Given the description of an element on the screen output the (x, y) to click on. 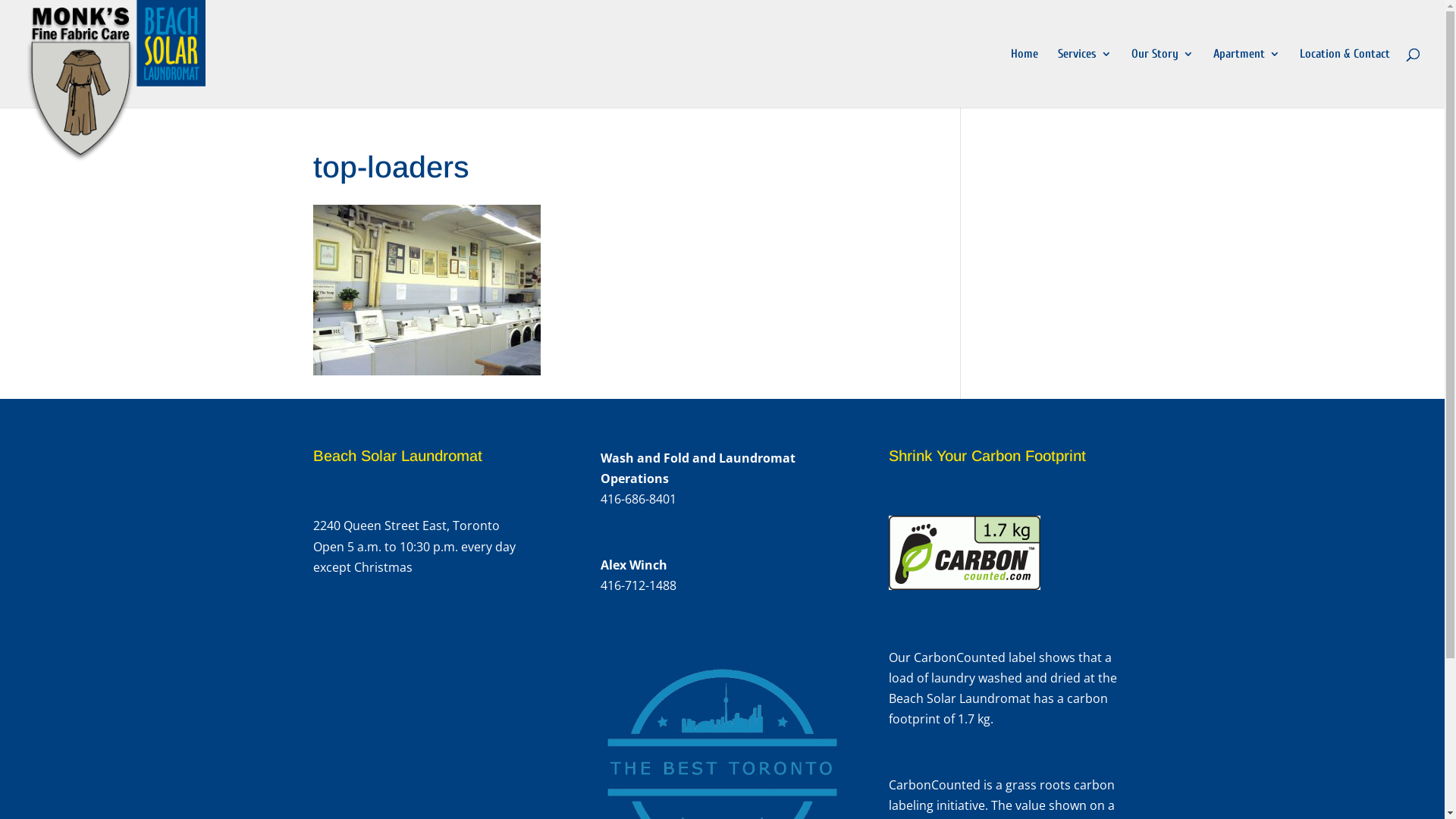
Apartment Element type: text (1246, 77)
Home Element type: text (1024, 77)
Location & Contact Element type: text (1344, 77)
Services Element type: text (1084, 77)
Our Story Element type: text (1162, 77)
